Given the description of an element on the screen output the (x, y) to click on. 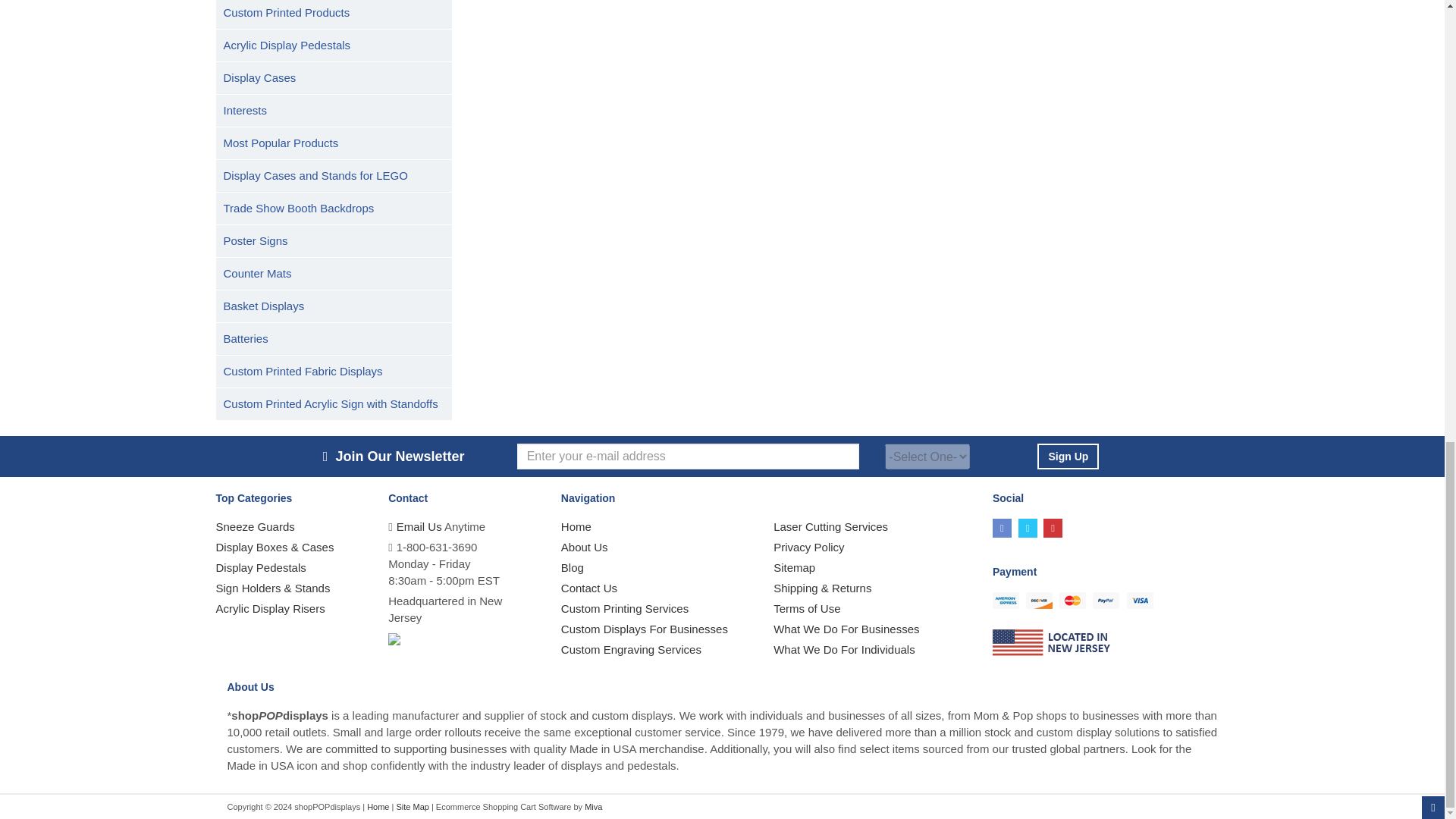
located in nj (1052, 642)
Sign Up (1067, 456)
Sign Up (1067, 456)
